Given the description of an element on the screen output the (x, y) to click on. 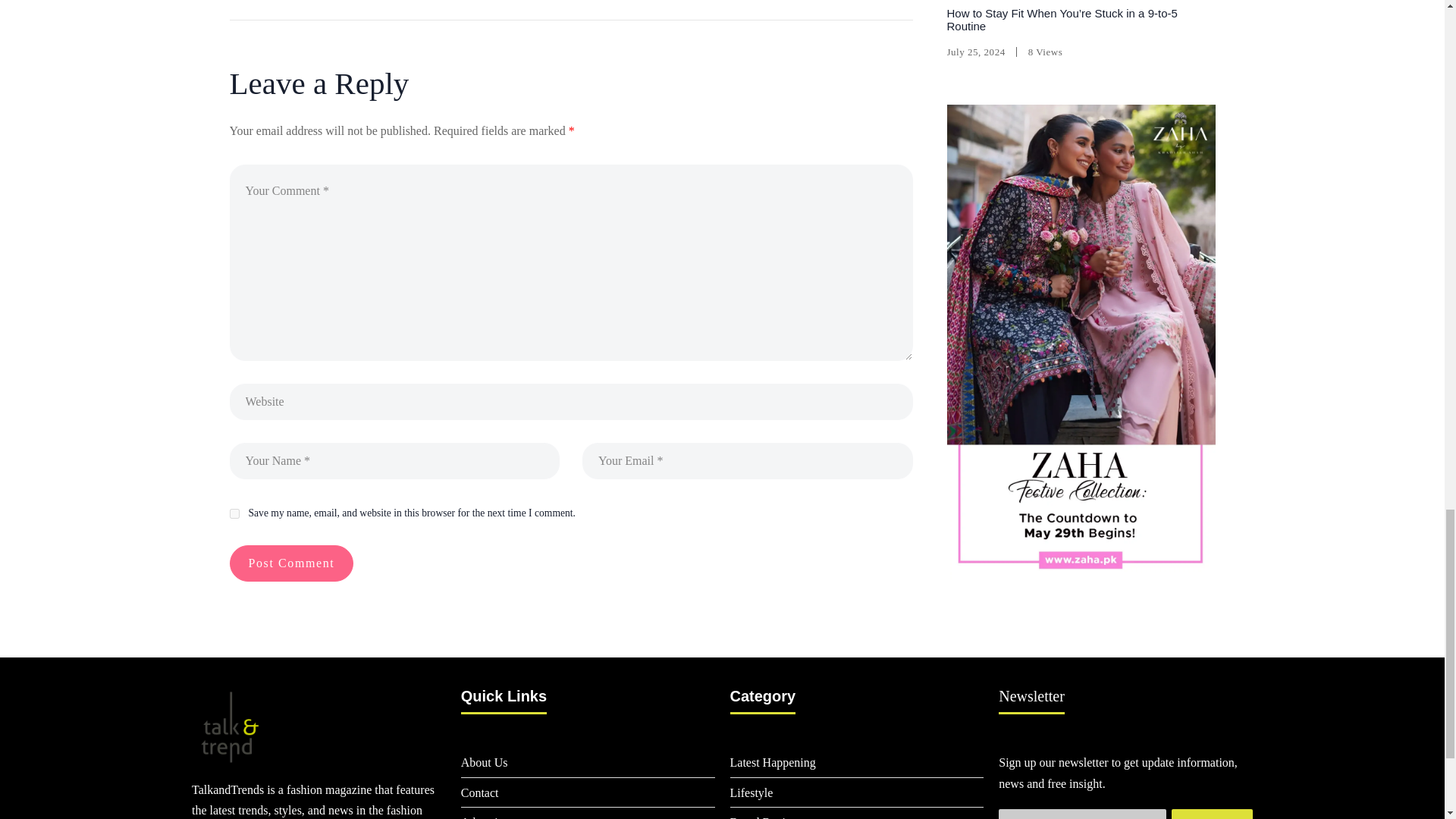
yes (233, 513)
Post Comment (290, 563)
